Given the description of an element on the screen output the (x, y) to click on. 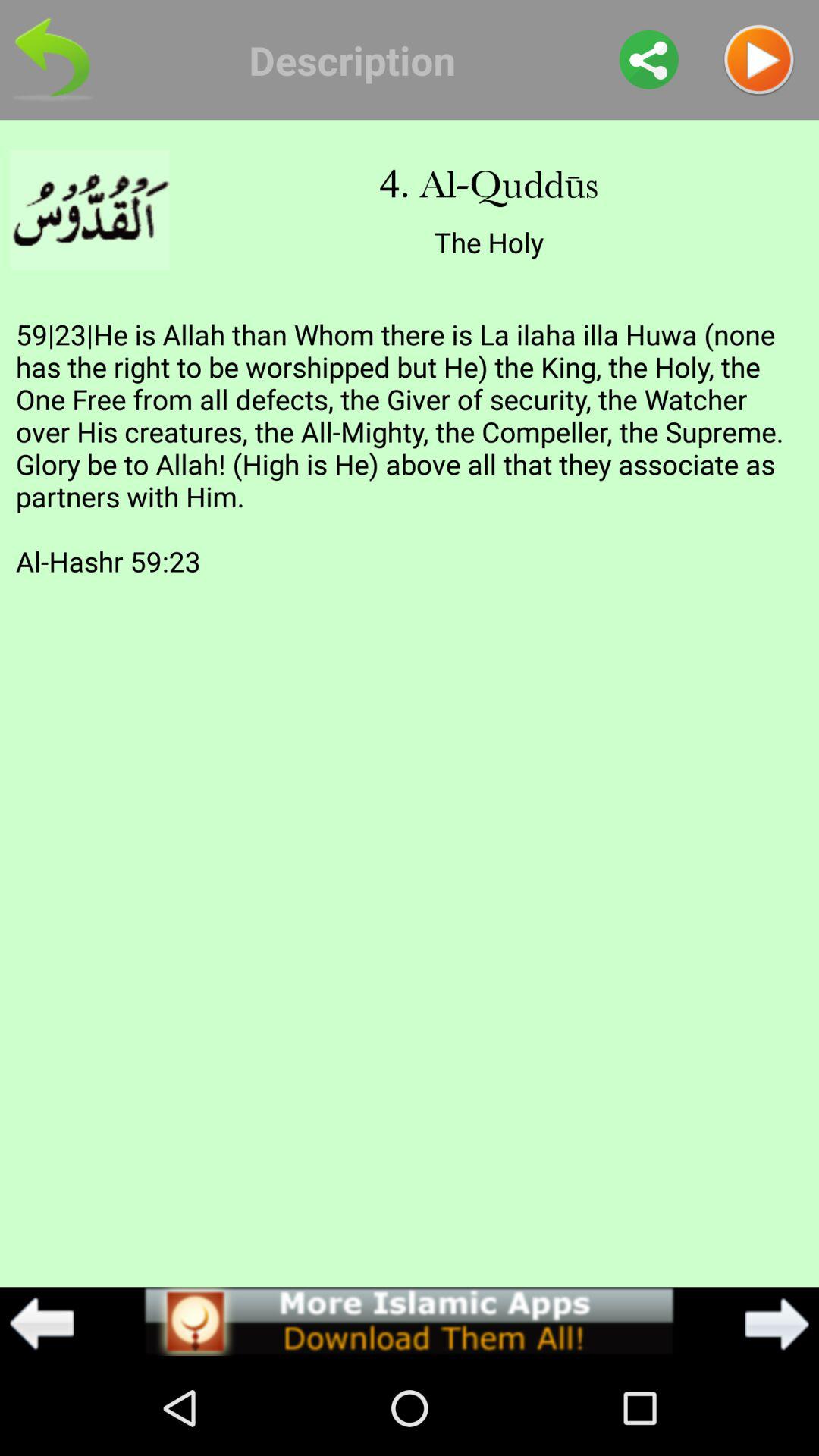
click the icon next to the description icon (648, 59)
